Given the description of an element on the screen output the (x, y) to click on. 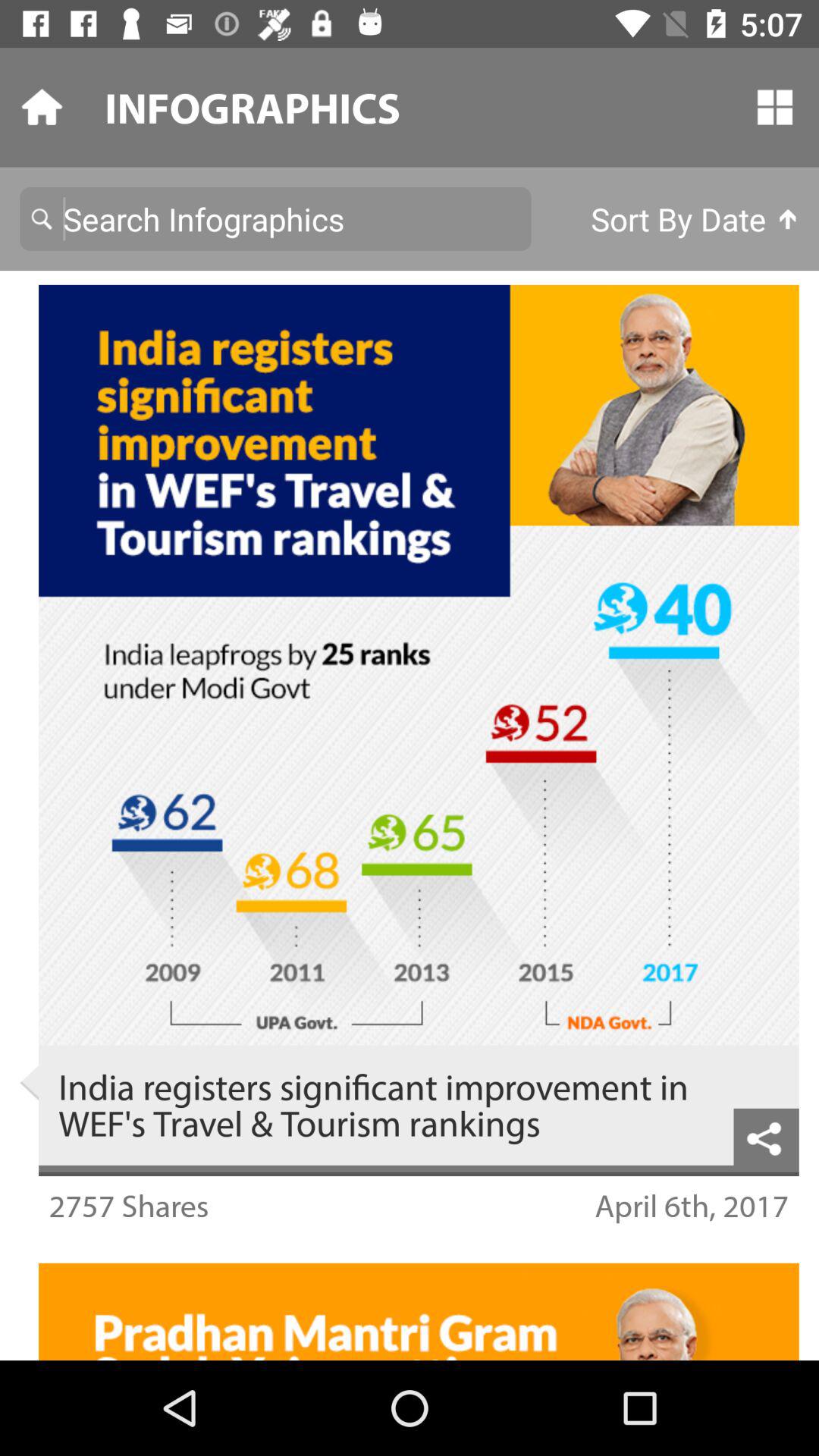
turn off item next to the 2757 shares icon (691, 1205)
